Given the description of an element on the screen output the (x, y) to click on. 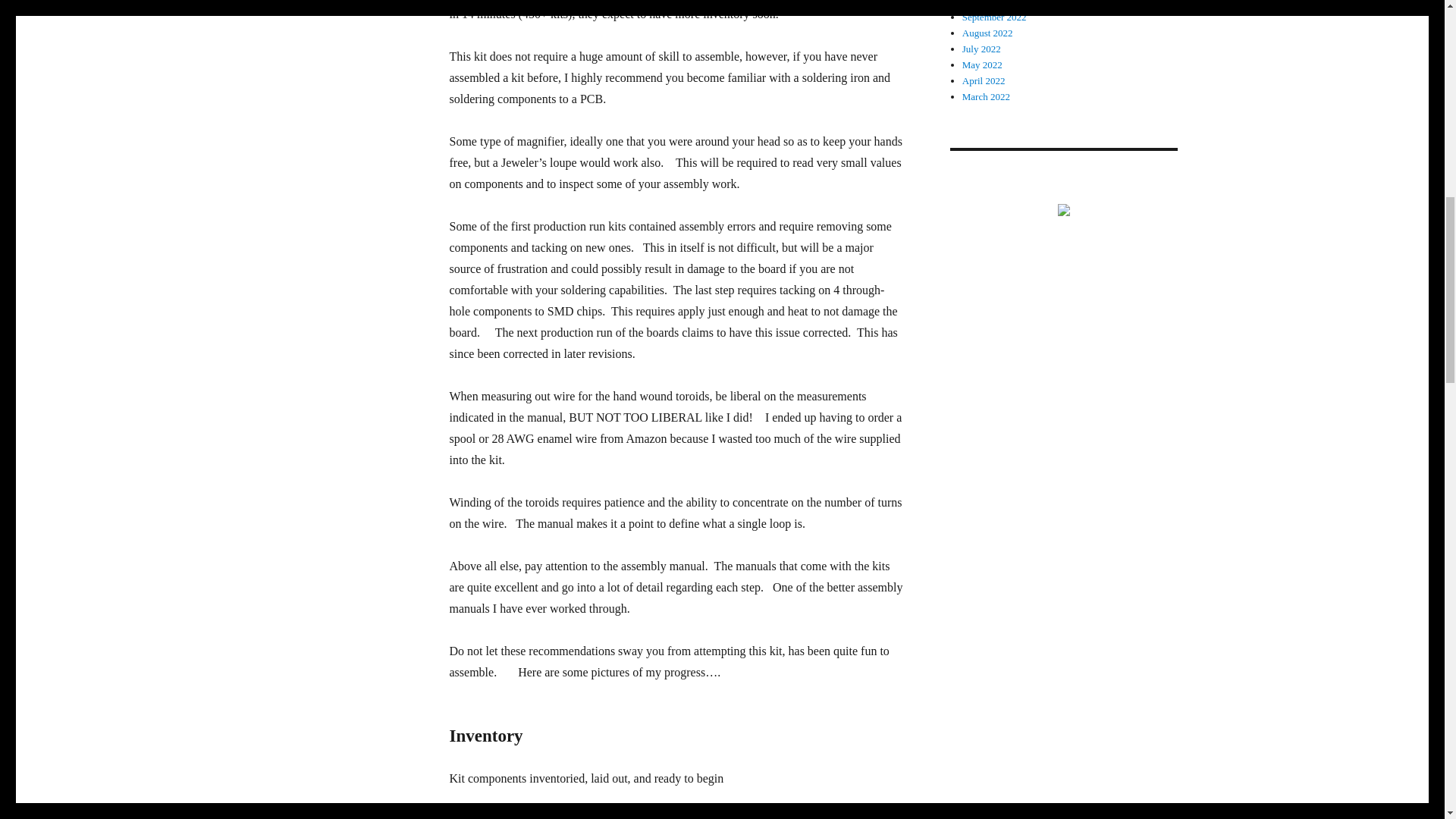
Click to add Solar-Terrestrial Data to your website! (1062, 208)
March 2022 (986, 96)
August 2022 (987, 32)
April 2022 (984, 80)
September 2022 (994, 16)
July 2022 (981, 48)
May 2022 (982, 64)
